Given the description of an element on the screen output the (x, y) to click on. 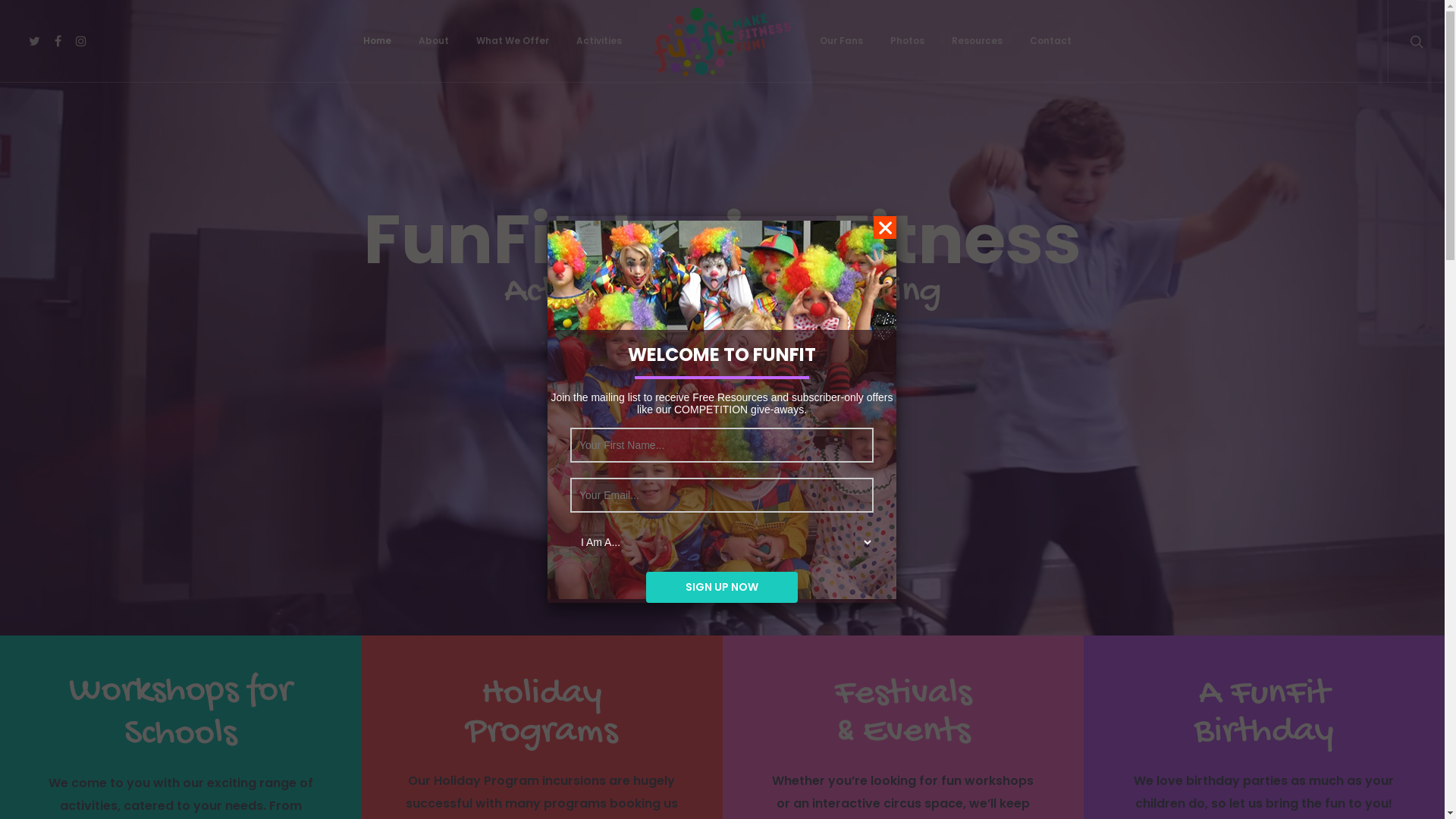
About Element type: text (433, 44)
Resources Element type: text (976, 44)
Home Element type: text (376, 44)
Photos Element type: text (906, 44)
Our Fans Element type: text (841, 44)
Contact Element type: text (1050, 44)
Sign Up Now Element type: text (721, 586)
What We Offer Element type: text (512, 44)
Activities Element type: text (598, 44)
